Given the description of an element on the screen output the (x, y) to click on. 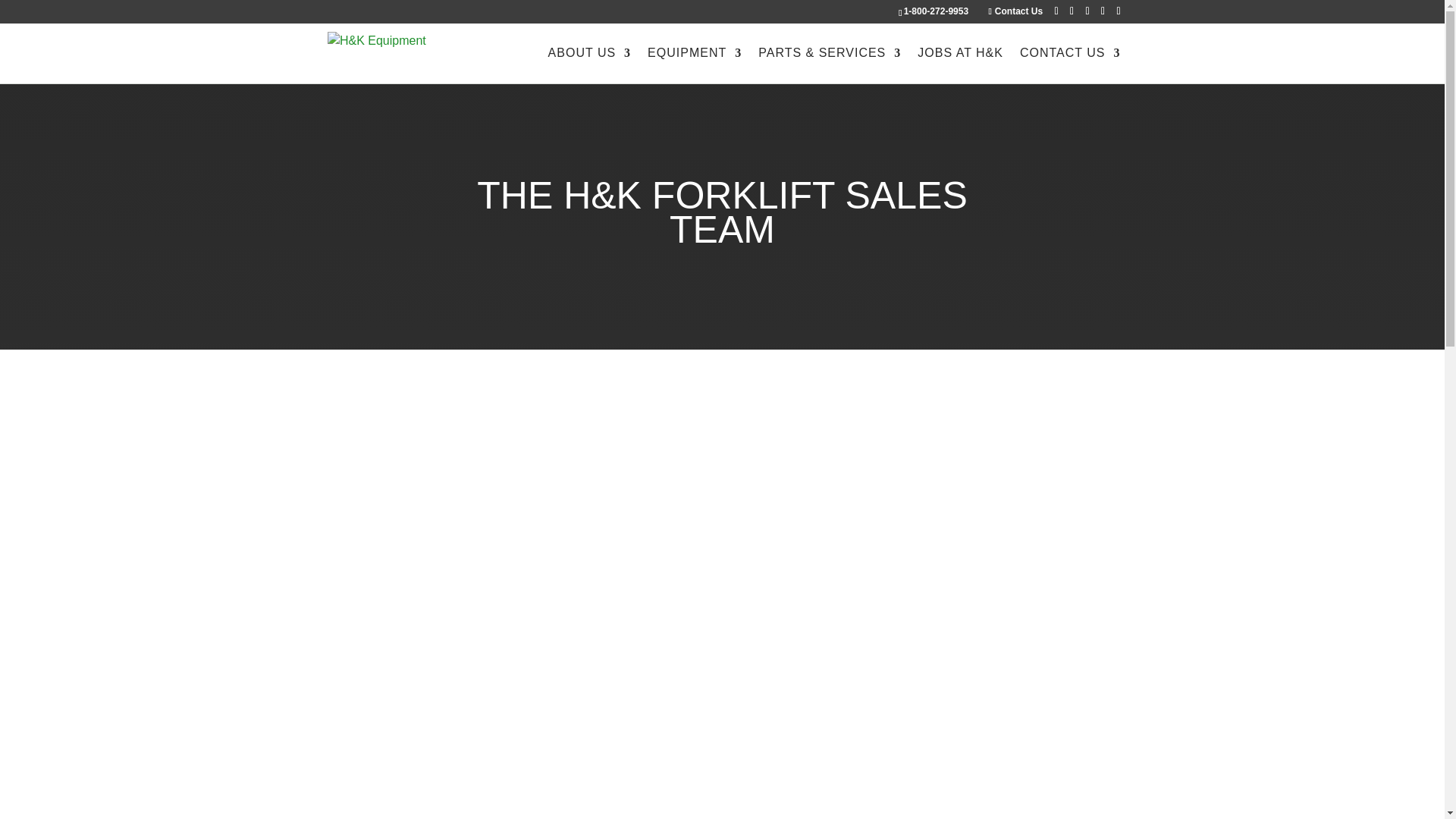
1-800-272-9953 (936, 10)
ABOUT US (589, 65)
EQUIPMENT (694, 65)
Contact Us (1015, 10)
